Given the description of an element on the screen output the (x, y) to click on. 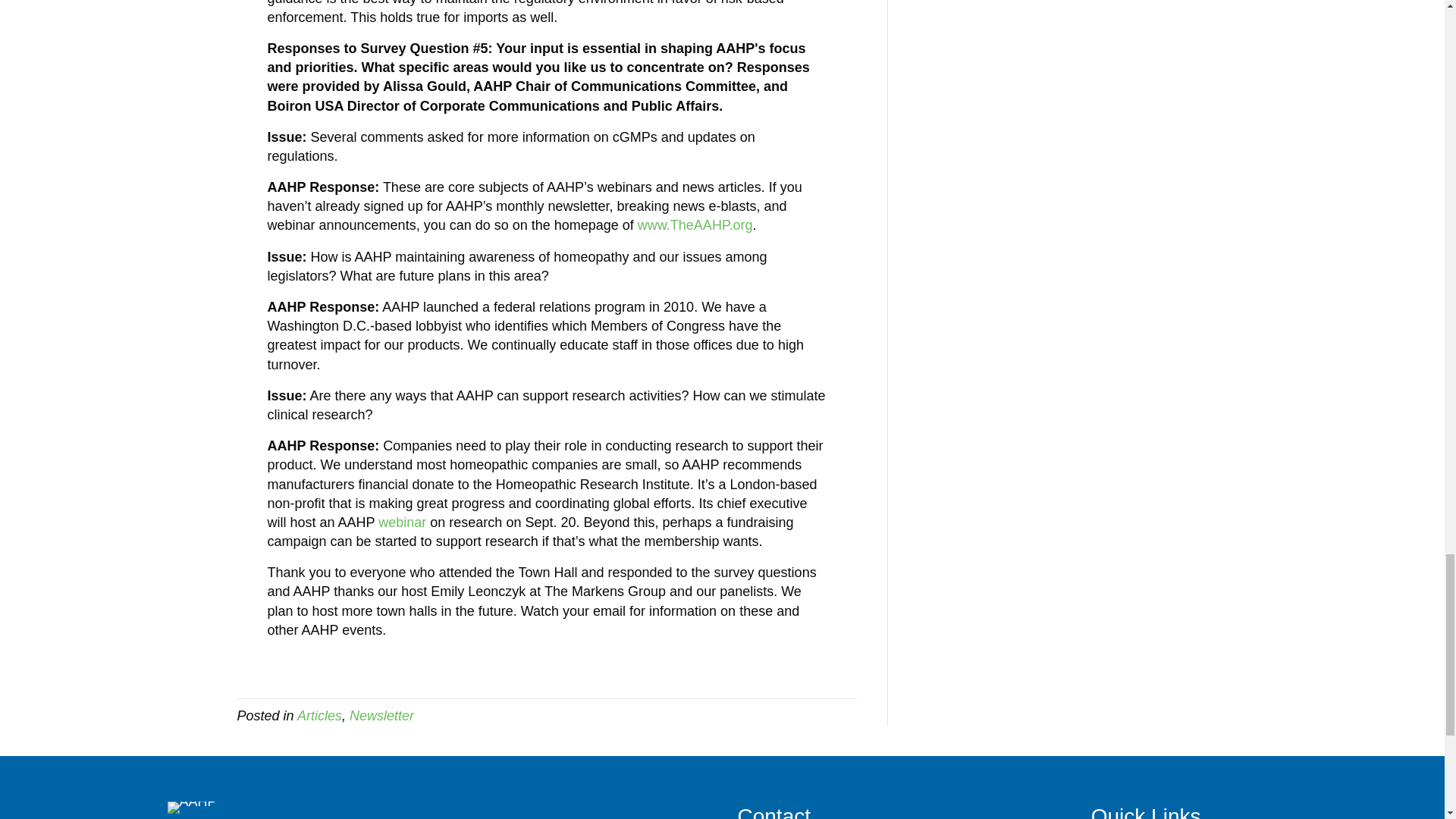
Newsletter (381, 715)
webinar (402, 522)
Articles (319, 715)
AAHP (191, 807)
www.TheAAHP.org (694, 224)
